Given the description of an element on the screen output the (x, y) to click on. 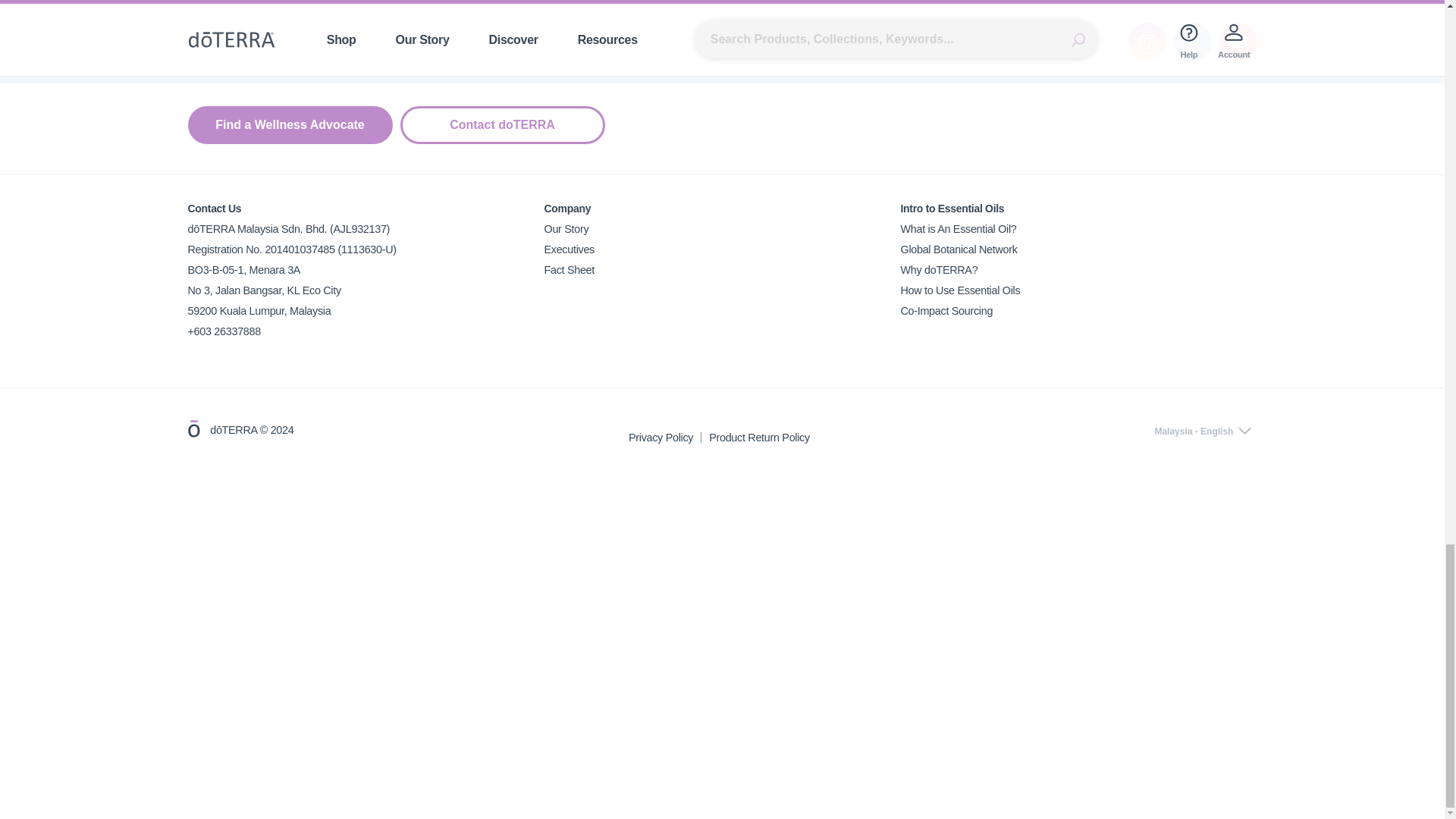
Instagram (1147, 41)
YouTube (1238, 41)
Facebook (1192, 41)
